Given the description of an element on the screen output the (x, y) to click on. 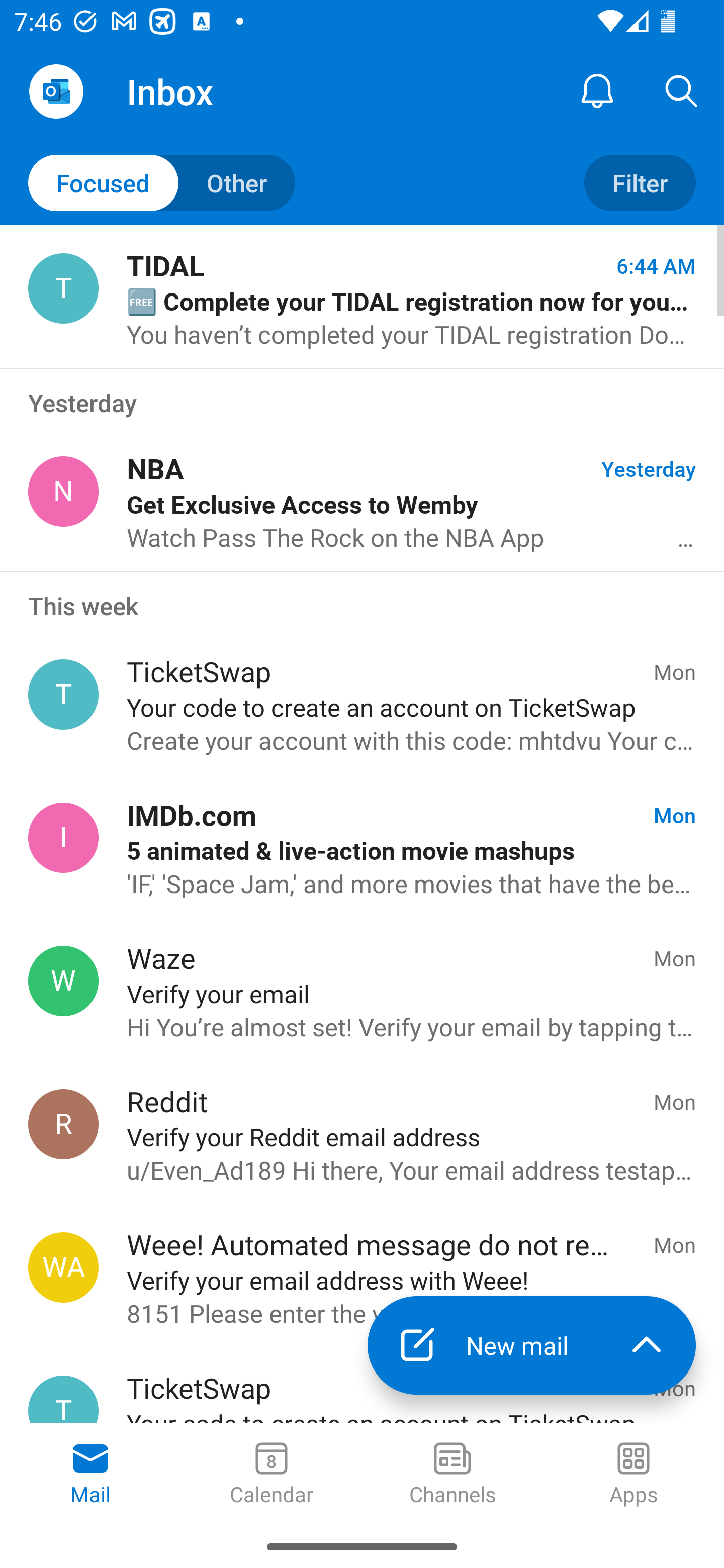
Notification Center (597, 90)
Search, ,  (681, 90)
Open Navigation Drawer (55, 91)
Toggle to other mails (161, 183)
Filter (639, 183)
TIDAL, hello@email.tidal.com (63, 288)
NBA, NBA@email.nba.com (63, 491)
TicketSwap, info@ticketswap.com (63, 694)
IMDb.com, do-not-reply@imdb.com (63, 837)
Waze, noreply@waze.com (63, 980)
Reddit, noreply@reddit.com (63, 1123)
New mail (481, 1344)
launch the extended action menu (646, 1344)
Calendar (271, 1474)
Channels (452, 1474)
Apps (633, 1474)
